Given the description of an element on the screen output the (x, y) to click on. 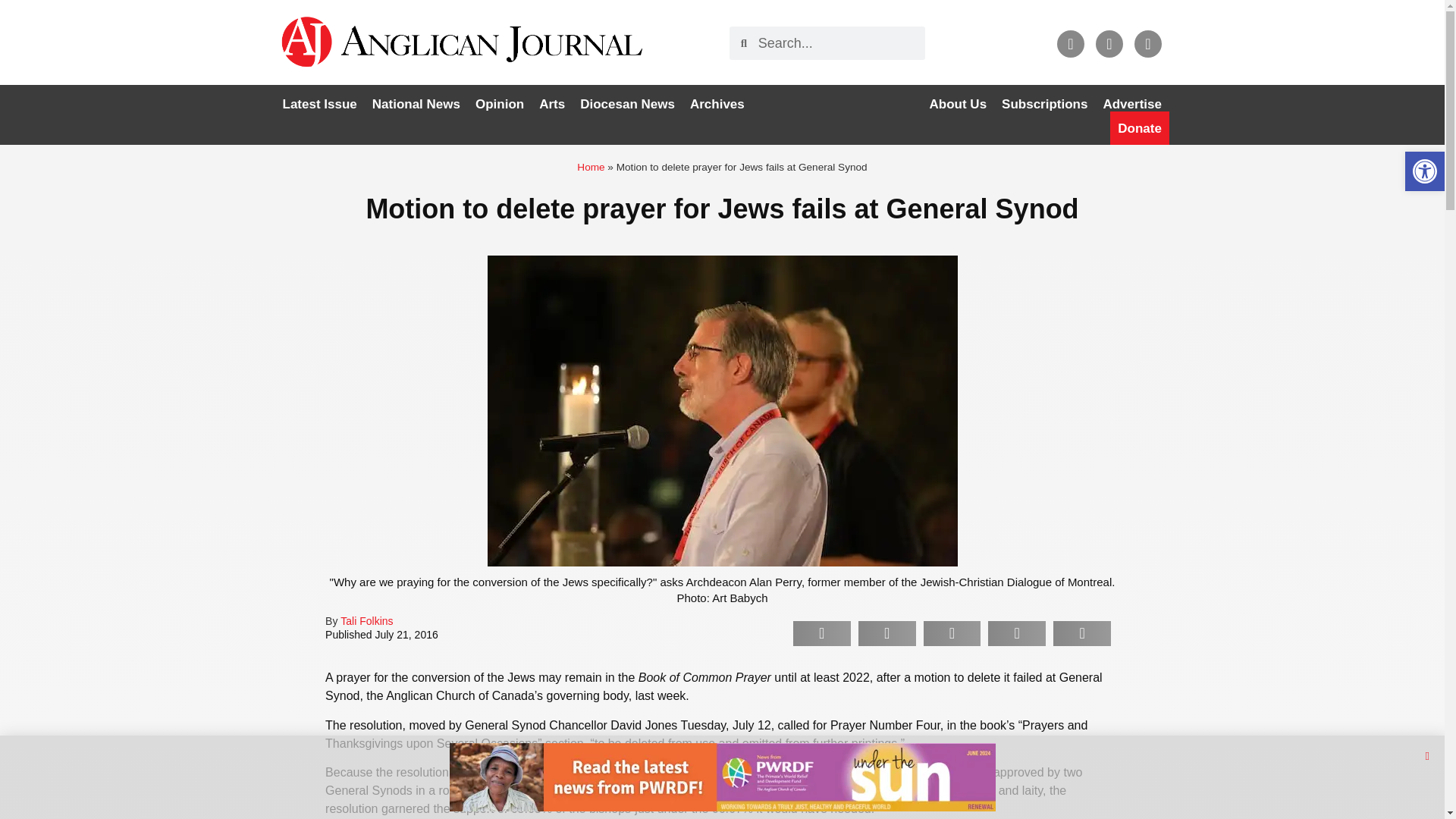
Arts (551, 104)
Diocesan News (627, 104)
Tali Folkins (366, 621)
Opinion (499, 104)
National News (416, 104)
Accessibility Tools (1424, 170)
Latest Issue (319, 104)
Archives (717, 104)
